Given the description of an element on the screen output the (x, y) to click on. 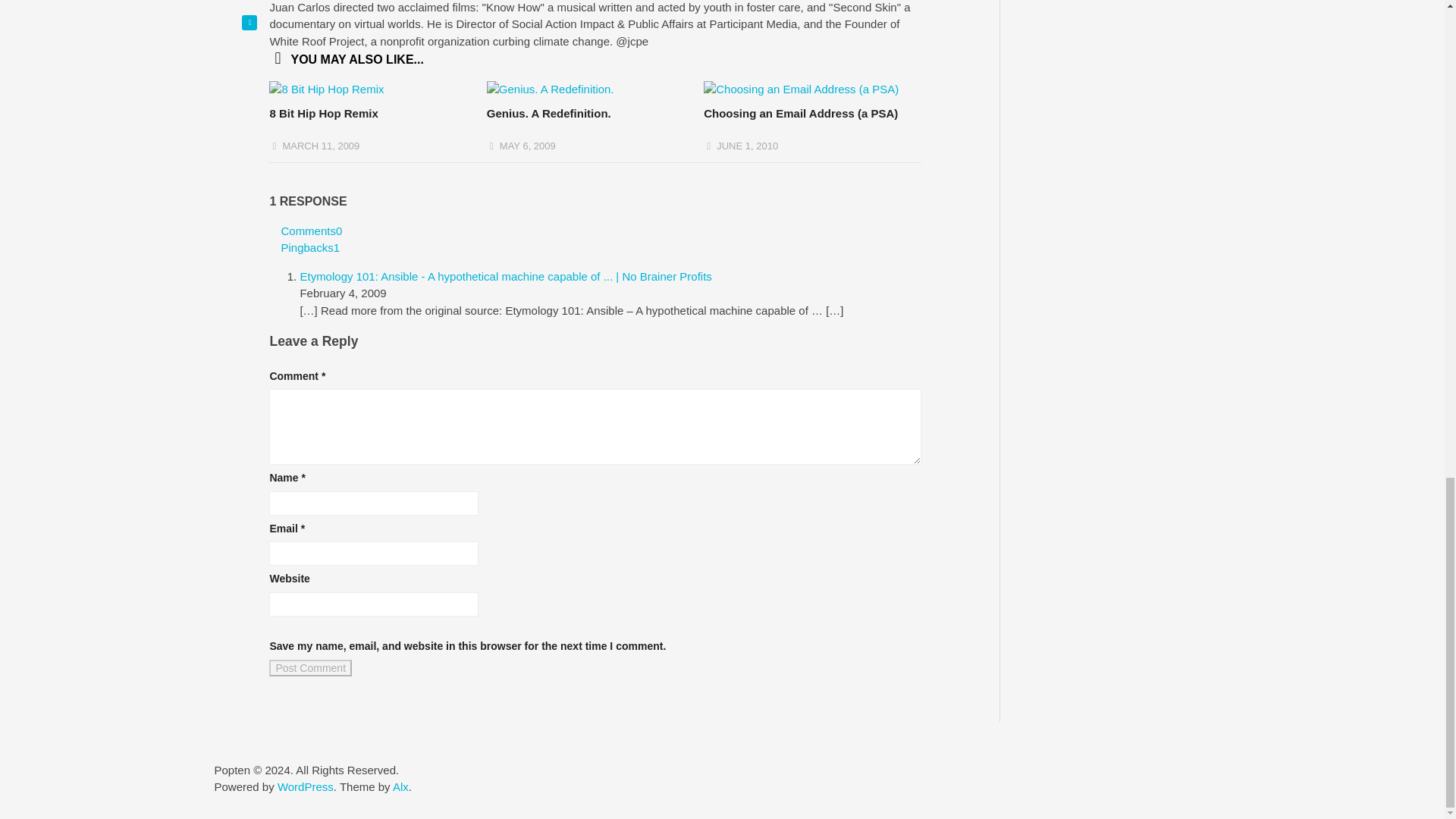
Post Comment (310, 668)
